Given the description of an element on the screen output the (x, y) to click on. 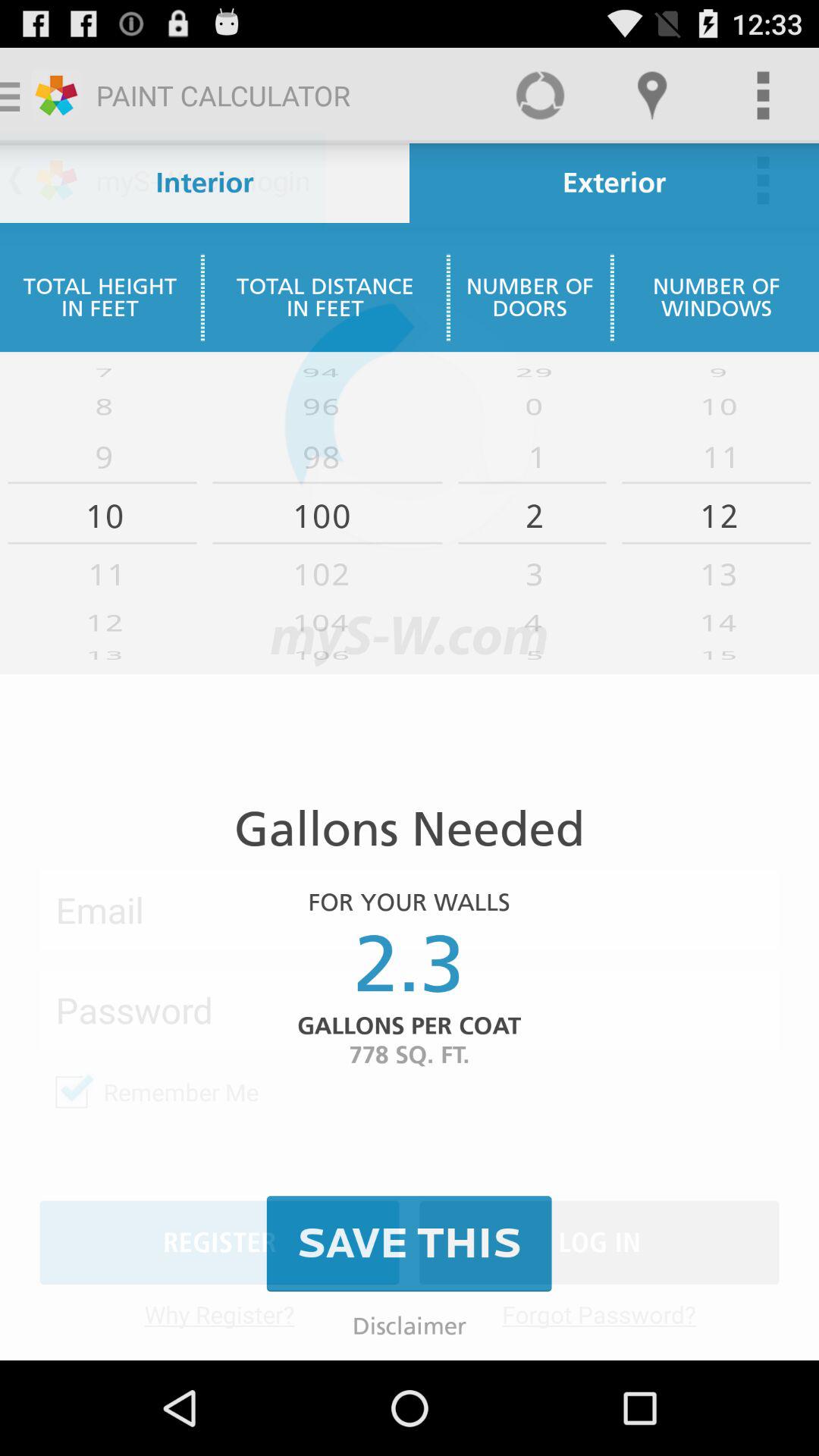
click on the circle recycle option to the left of loacation option (540, 95)
